Given the description of an element on the screen output the (x, y) to click on. 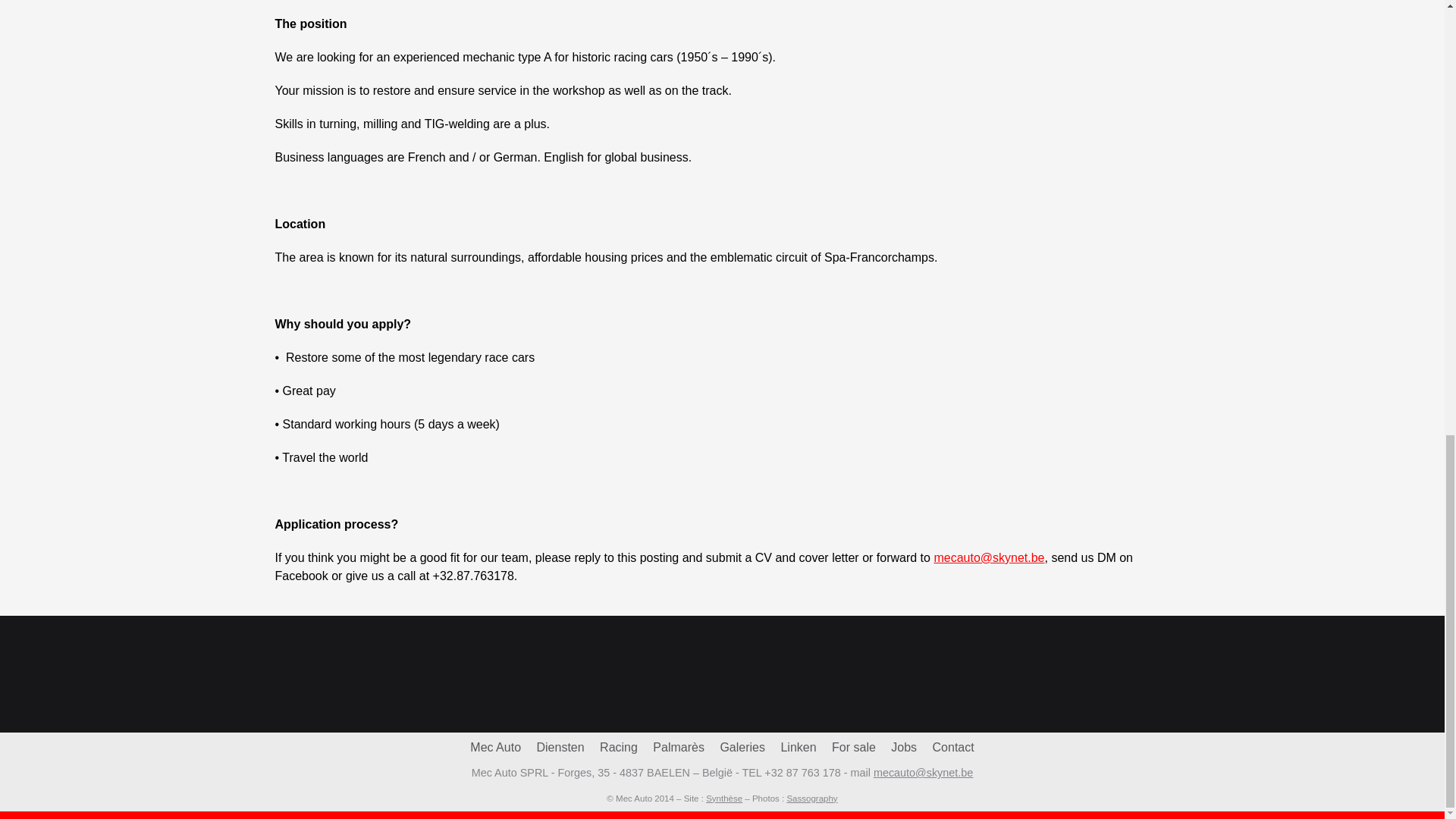
Mec Auto (495, 747)
Diensten (559, 747)
Jobs (904, 747)
Racing (618, 747)
Sassography (811, 798)
For sale (853, 747)
Galeries (742, 747)
Contact (953, 747)
Linken (797, 747)
